Given the description of an element on the screen output the (x, y) to click on. 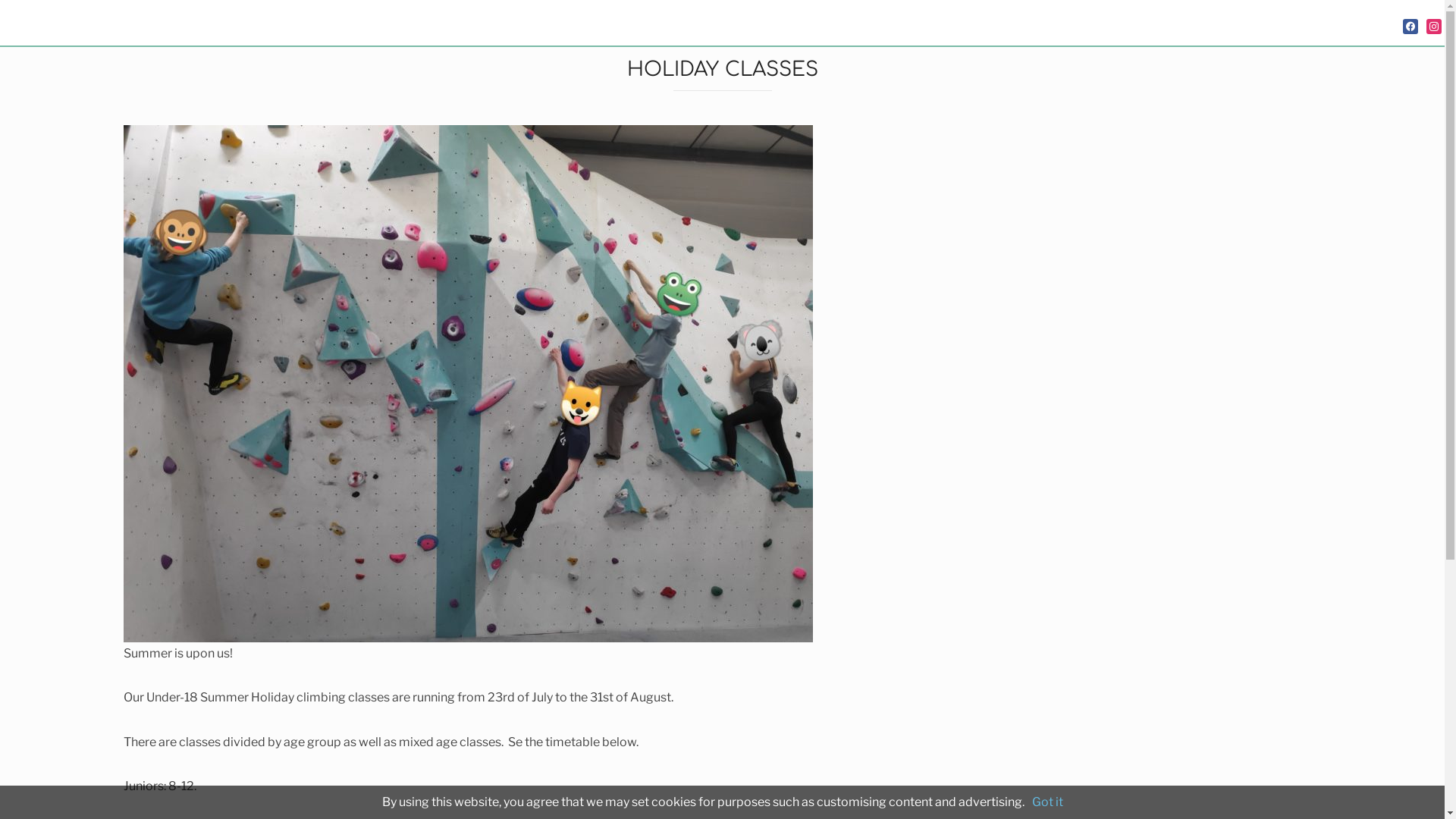
Got it Element type: text (1046, 801)
instagram Element type: text (1433, 25)
Classes/Socials Element type: text (1090, 21)
Your First Visit Element type: text (927, 21)
facebook Element type: text (1410, 25)
News & Events Element type: text (1246, 21)
Info Element type: text (1355, 21)
